Given the description of an element on the screen output the (x, y) to click on. 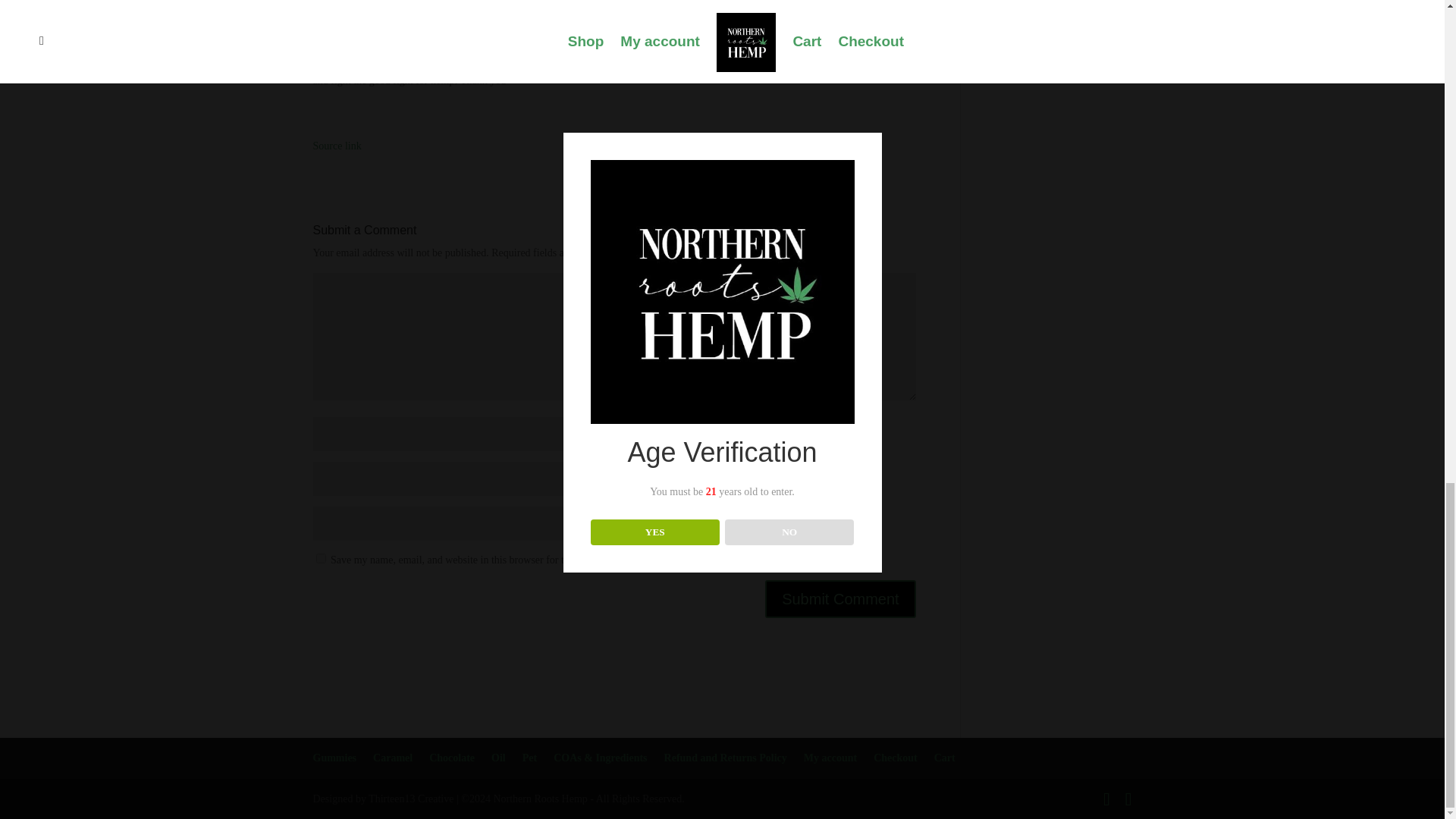
Submit Comment (840, 598)
Submit Comment (840, 598)
Source link (337, 145)
yes (319, 558)
Checkout (895, 757)
Gummies (334, 757)
Caramel (392, 757)
Pet (529, 757)
Refund and Returns Policy (725, 757)
